Given the description of an element on the screen output the (x, y) to click on. 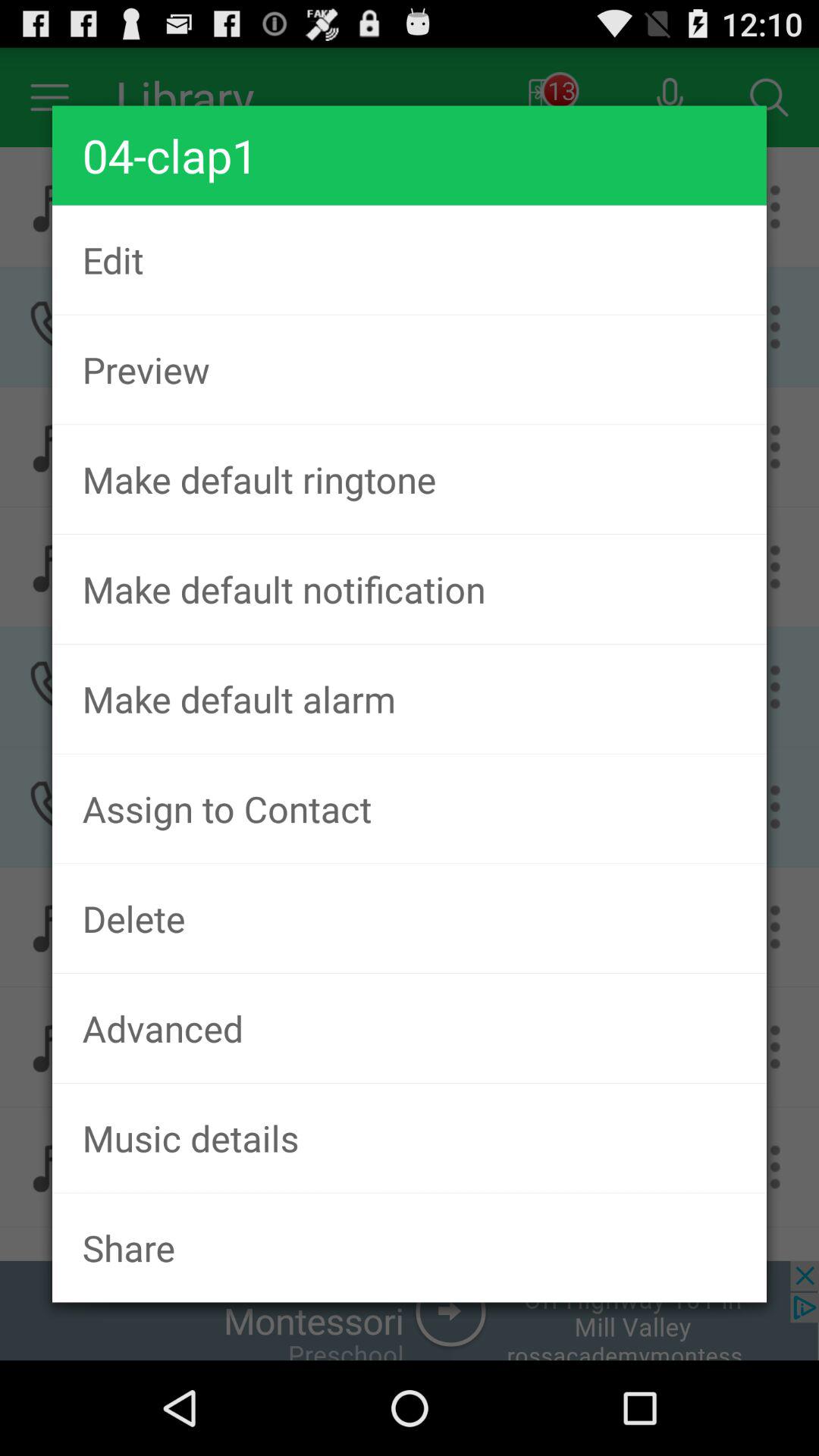
tap the assign to contact app (409, 808)
